Given the description of an element on the screen output the (x, y) to click on. 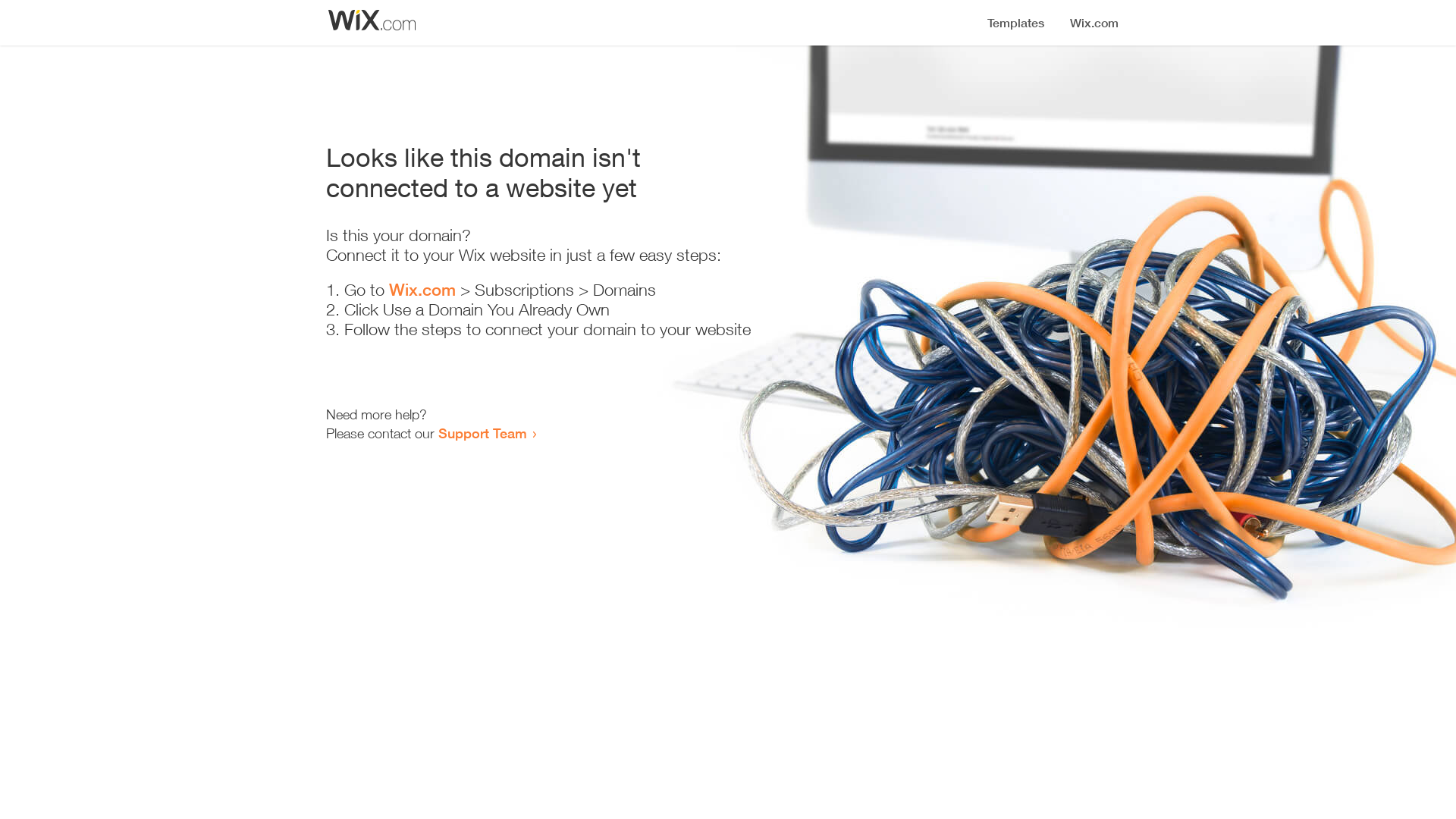
Wix.com Element type: text (422, 289)
Support Team Element type: text (482, 432)
